Given the description of an element on the screen output the (x, y) to click on. 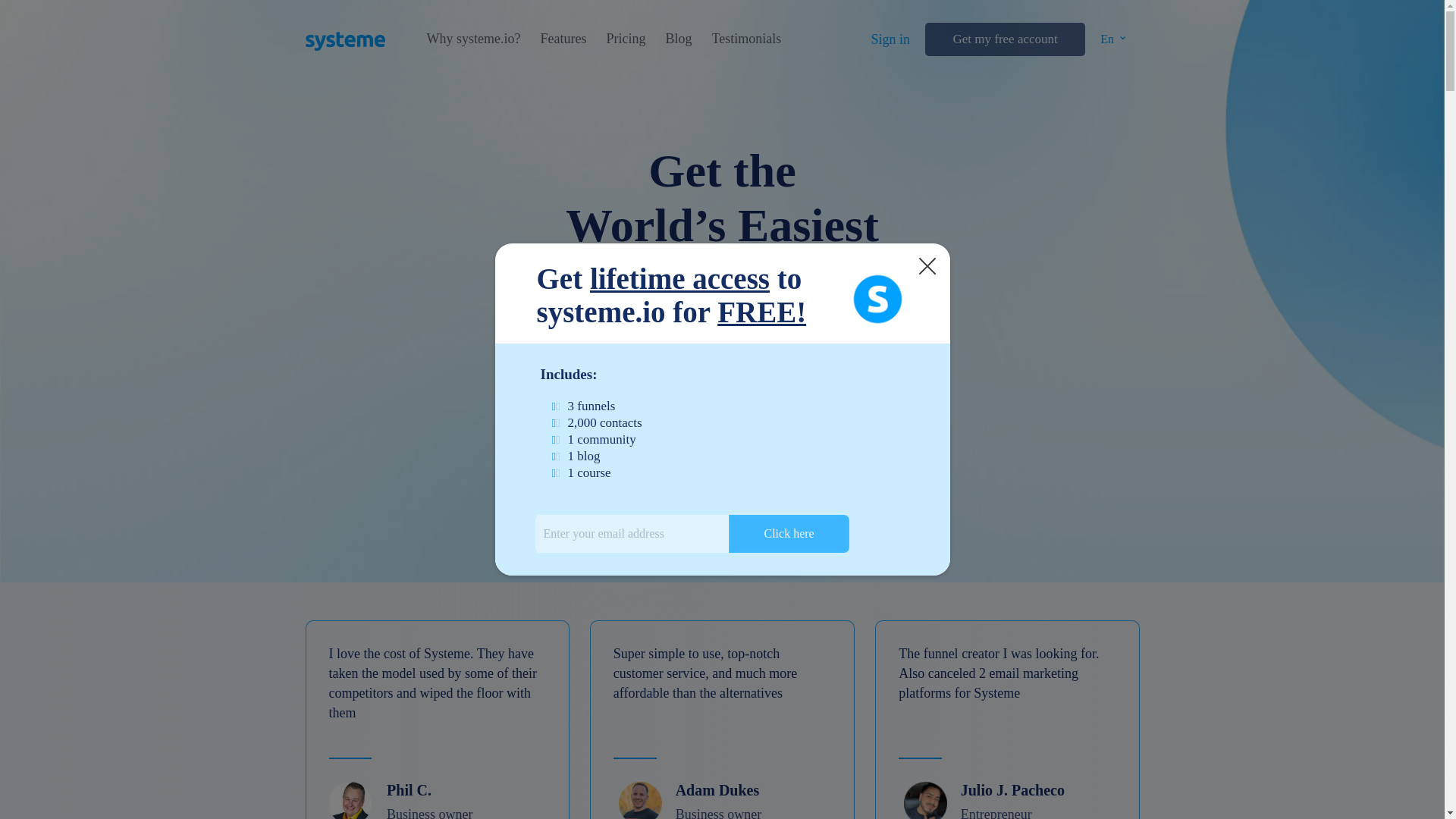
Blog (678, 38)
Sign in (890, 39)
Get my free account (1004, 39)
Testimonials (745, 38)
Pricing (625, 38)
Features (563, 38)
Why systeme.io? (472, 38)
